Given the description of an element on the screen output the (x, y) to click on. 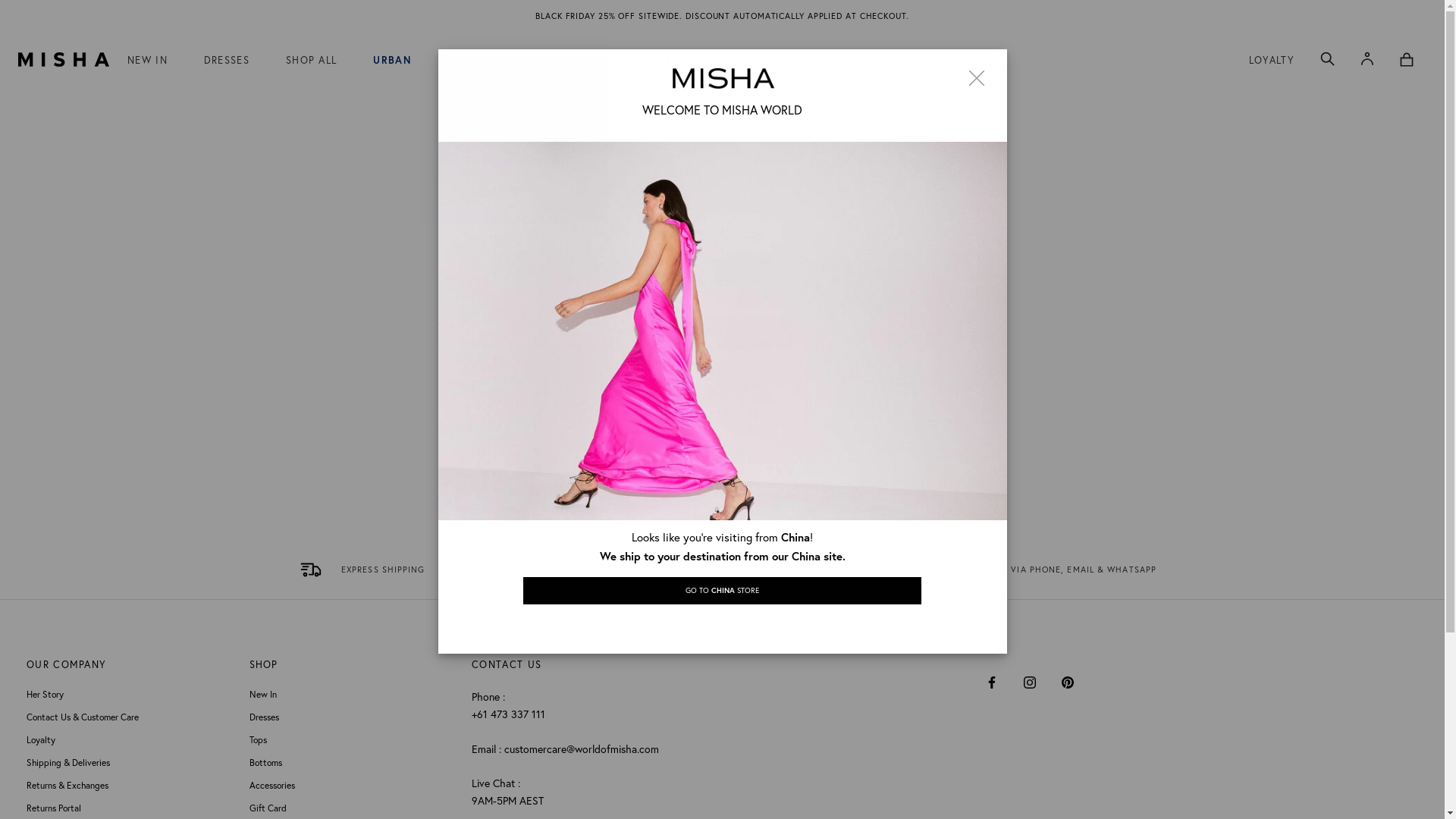
NEW IN Element type: text (147, 59)
SEARCH
ICON-SEARCH CREATED WITH SKETCH. Element type: text (1327, 59)
Tops Element type: text (353, 739)
Accessories Element type: text (353, 785)
  Element type: text (553, 569)
SHOP ALL
SHOP ALL Element type: text (310, 59)
ACCOUNT Element type: text (1367, 58)
  Element type: text (993, 569)
Bottoms Element type: text (353, 762)
MISHA WORLD Element type: text (690, 59)
0 Element type: text (1406, 59)
  Element type: text (356, 569)
GO TO CHINA STORE Element type: text (722, 591)
  Element type: text (741, 569)
Gift Card Element type: text (353, 808)
WEDDING Element type: text (472, 59)
Contact Us & Customer Care Element type: text (130, 717)
New In Element type: text (353, 694)
Loyalty Element type: text (130, 739)
DRESSES Element type: text (226, 59)
URBAN Element type: text (392, 59)
BACK TO HOMEPAGE Element type: text (722, 333)
Returns & Exchanges Element type: text (130, 785)
Dresses Element type: text (353, 717)
Her Story Element type: text (130, 694)
COMING SOON Element type: text (575, 59)
Returns Portal Element type: text (130, 808)
Shipping & Deliveries Element type: text (130, 762)
LOYALTY
LOYALTY Element type: text (1271, 59)
